Given the description of an element on the screen output the (x, y) to click on. 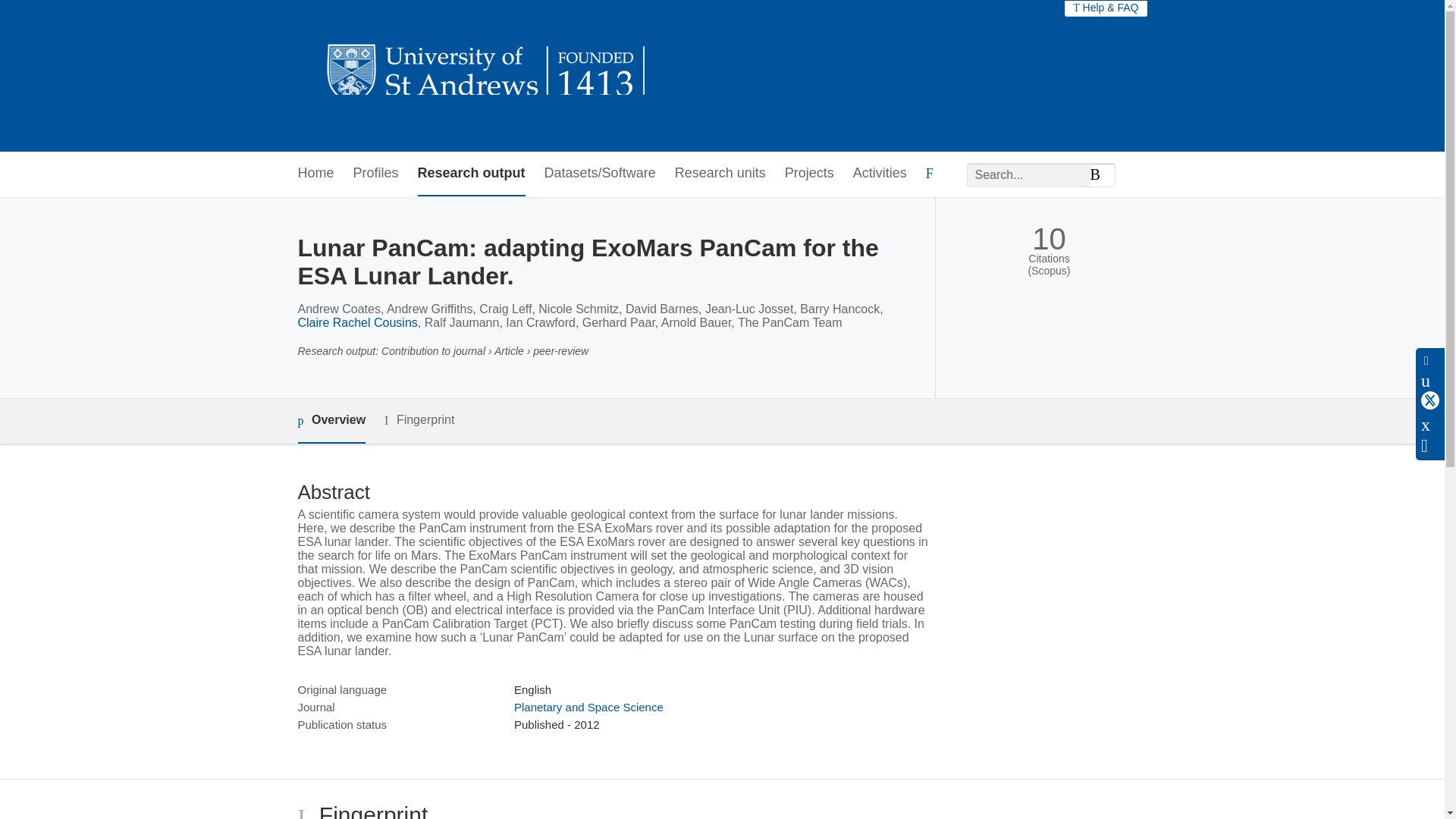
Claire Rachel Cousins (356, 322)
Activities (880, 173)
Projects (809, 173)
Research units (720, 173)
Research output (471, 173)
Fingerprint (419, 420)
Planetary and Space Science (588, 707)
Overview (331, 420)
Profiles (375, 173)
University of St Andrews Research Portal Home (487, 75)
